Given the description of an element on the screen output the (x, y) to click on. 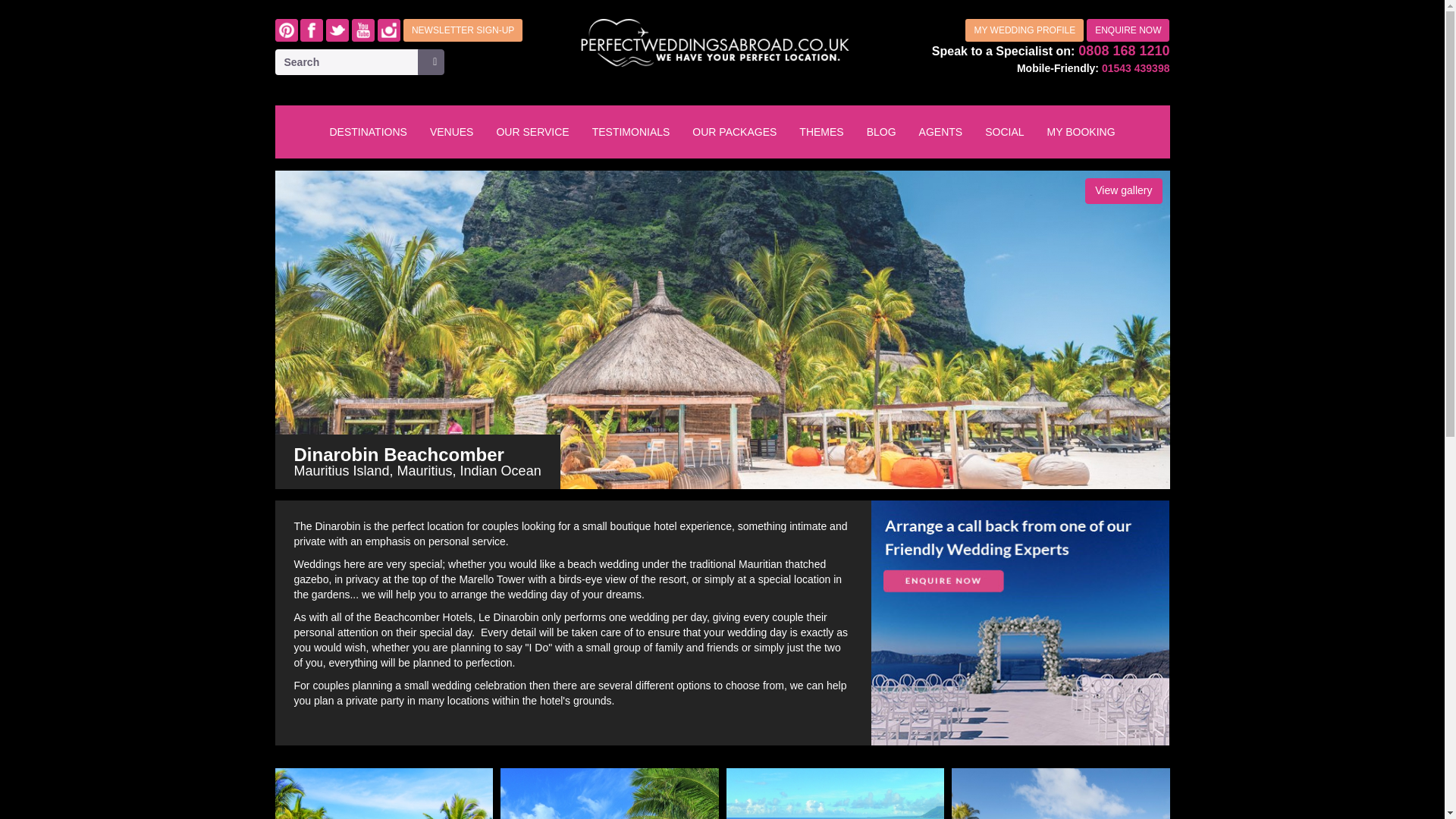
Instagram (388, 29)
Twitter (337, 29)
Instagram (388, 29)
NEWSLETTER SIGN-UP (462, 29)
01543 439398 (1136, 68)
Pinterest (286, 29)
Enter the terms you wish to search for. (347, 62)
OUR SERVICE (531, 131)
Facebook (311, 29)
0808 168 1210 (1123, 50)
